Given the description of an element on the screen output the (x, y) to click on. 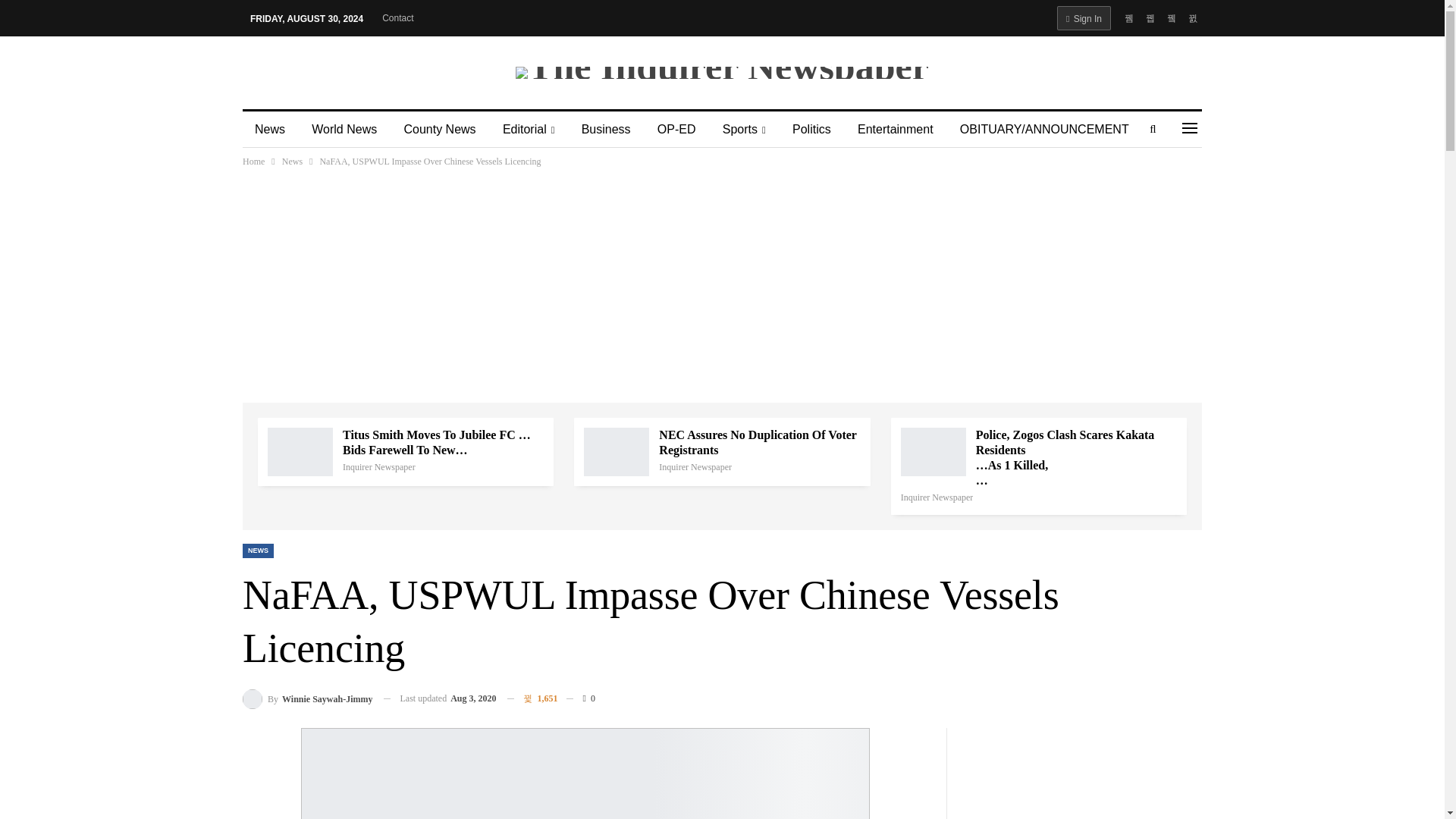
Browse Author Articles (378, 466)
County News (439, 129)
Contact (397, 18)
Browse Author Articles (695, 466)
NEC Assures No Duplication Of Voter Registrants (616, 451)
Browse Author Articles (937, 497)
Sign In (1083, 17)
Browse Author Articles (307, 698)
Editorial (528, 129)
